Given the description of an element on the screen output the (x, y) to click on. 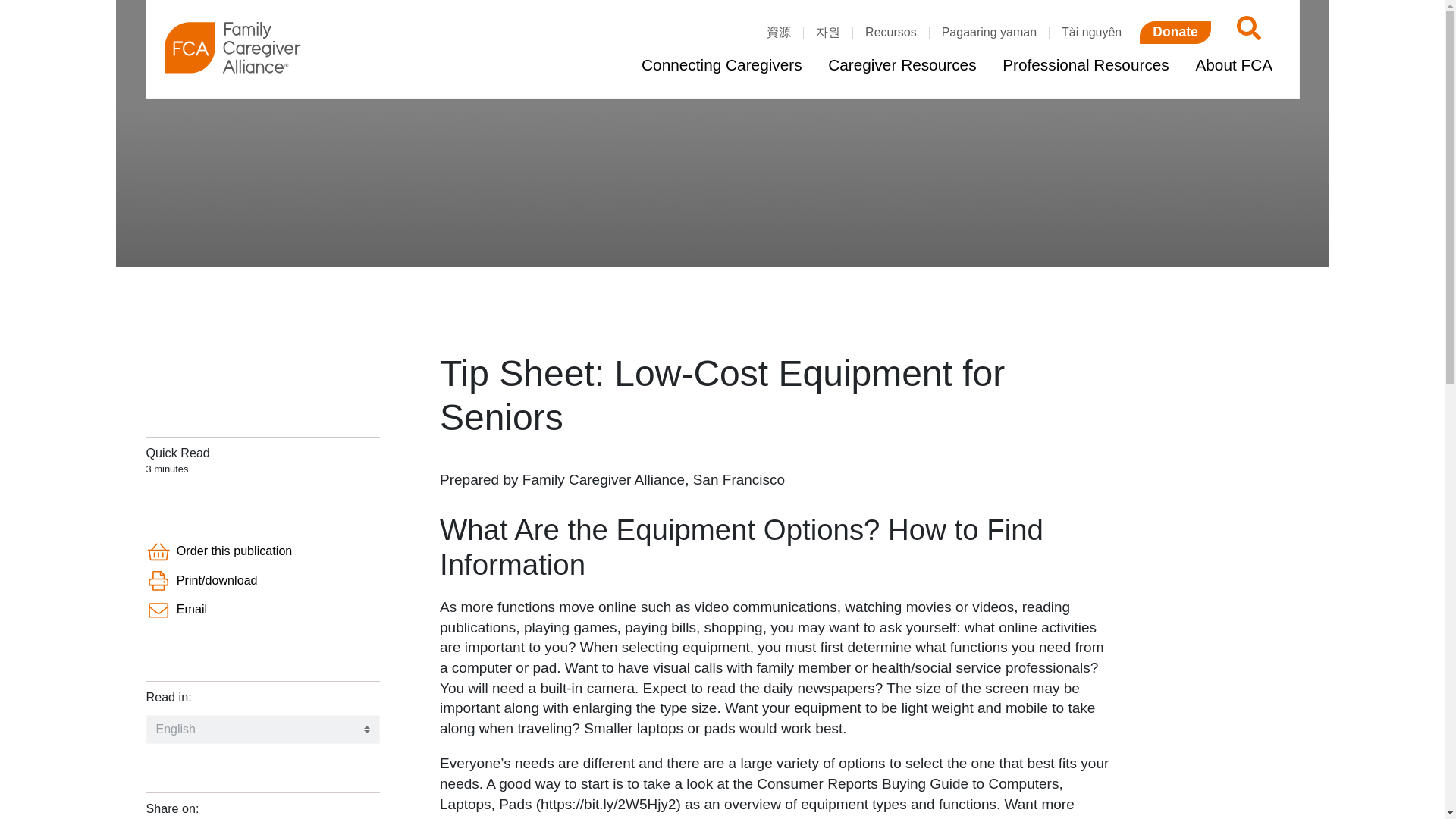
Connecting Caregivers (721, 65)
Search (1246, 32)
Professional Resources (1085, 65)
Caregiver Resources (902, 65)
About FCA (1233, 65)
